Given the description of an element on the screen output the (x, y) to click on. 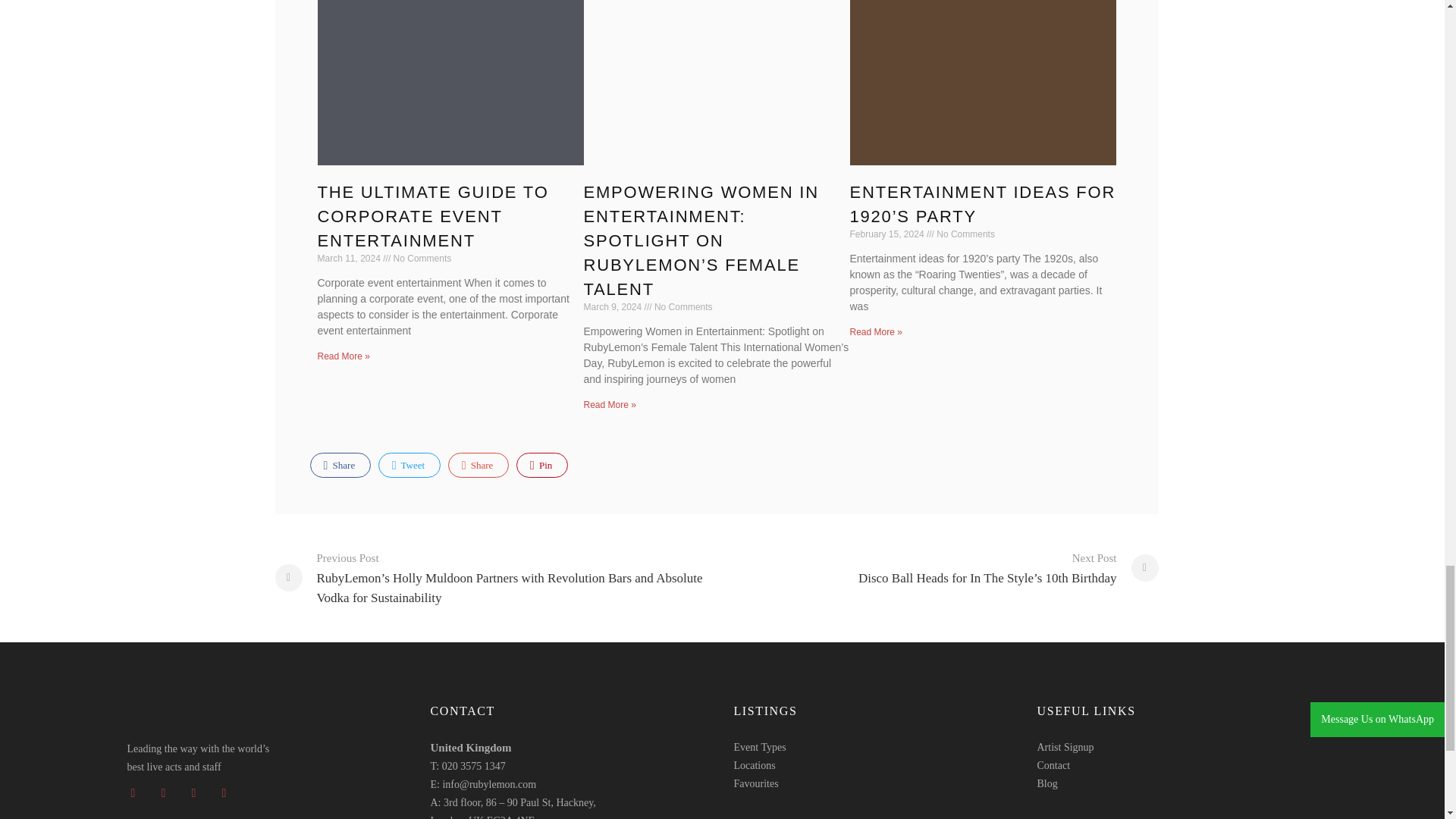
Twitter (409, 464)
